Given the description of an element on the screen output the (x, y) to click on. 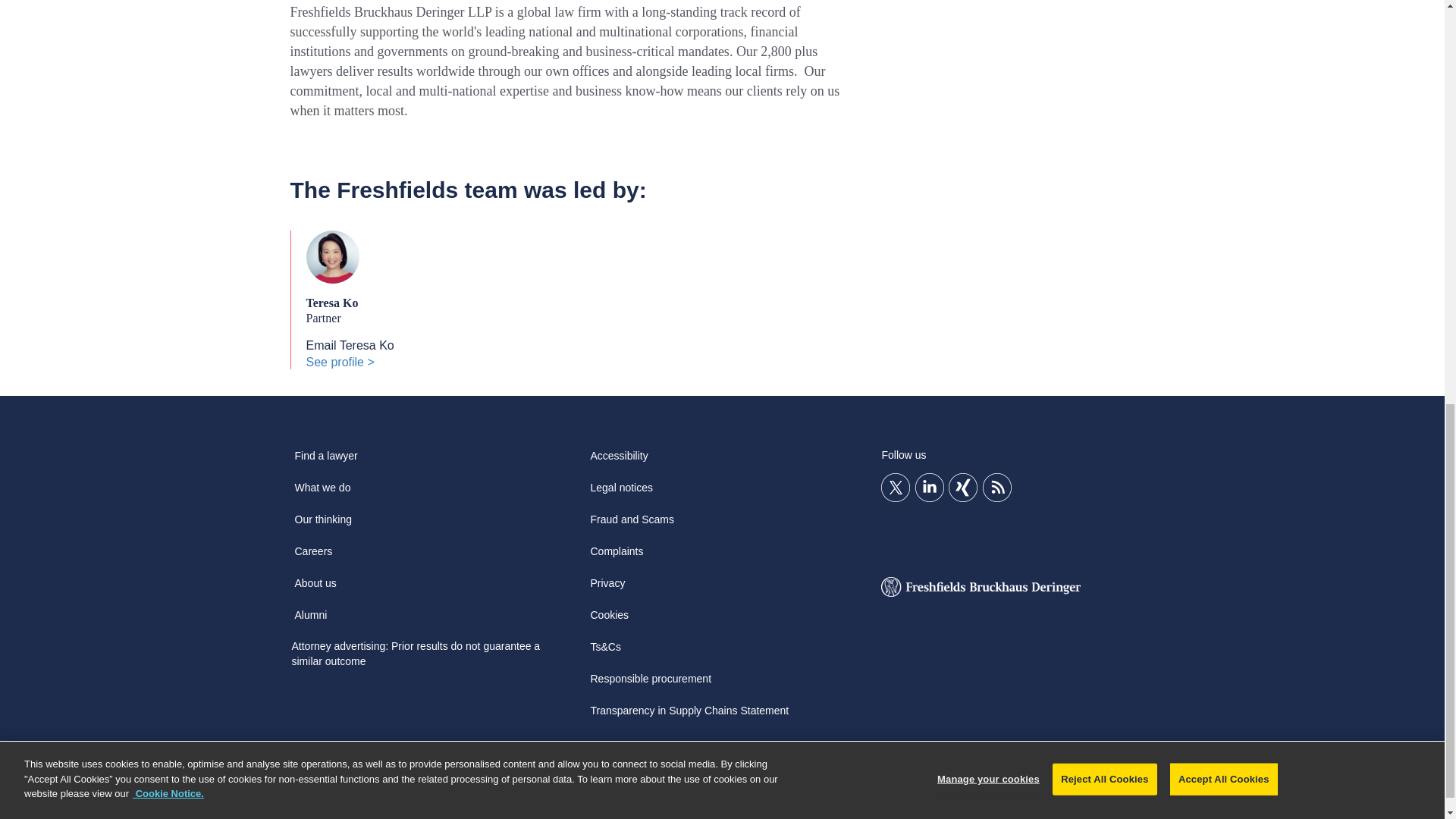
Cookies (608, 620)
What we do (322, 492)
Alumni (310, 620)
Accessibility (618, 460)
Legal notices (621, 492)
Find a lawyer (325, 460)
Responsible procurement (650, 684)
Careers (312, 556)
Privacy (606, 588)
About us (315, 588)
Fraud and Scams (631, 524)
Our thinking (322, 524)
